Given the description of an element on the screen output the (x, y) to click on. 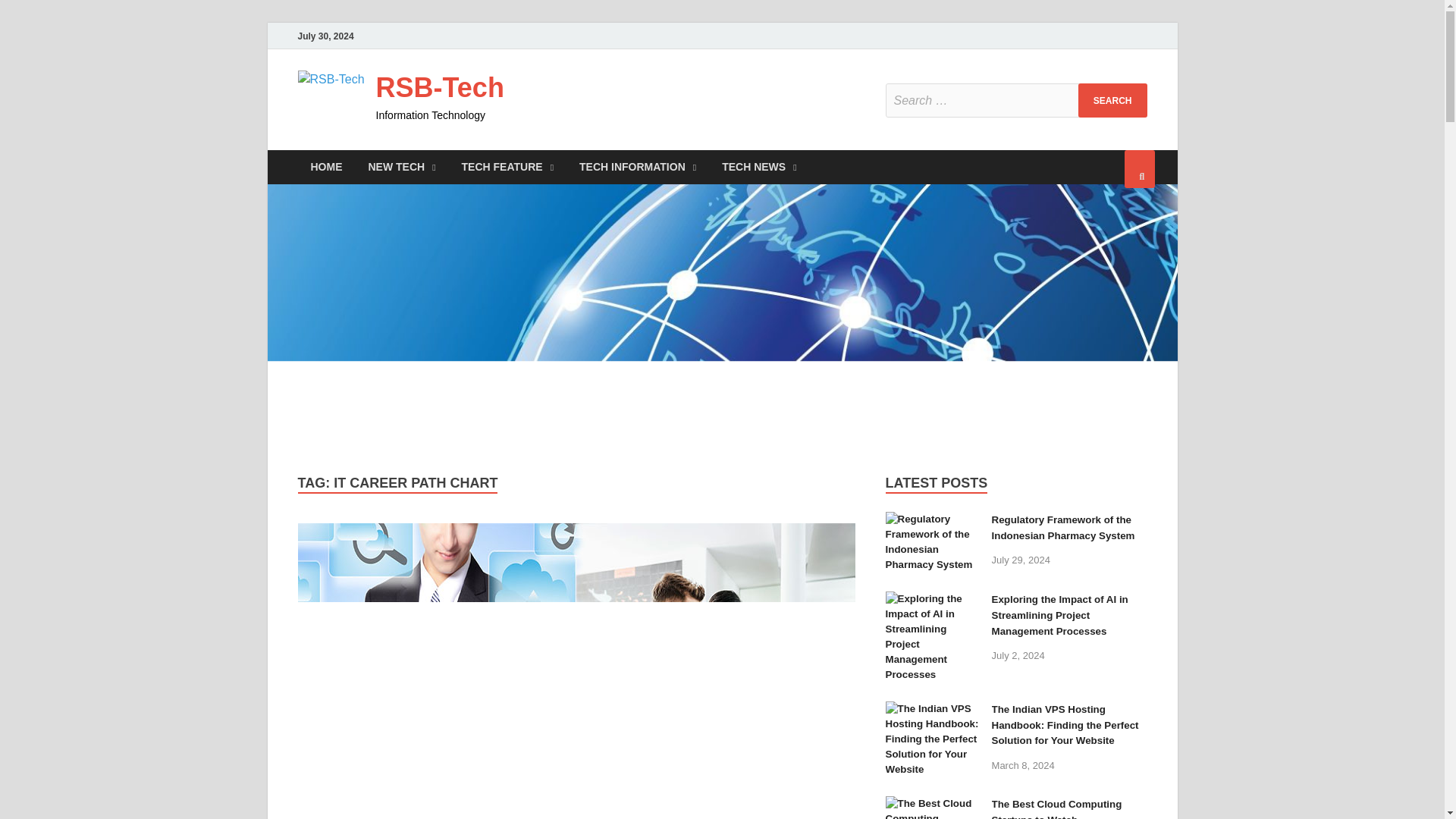
HOME (326, 166)
Search (1112, 100)
NEW TECH (401, 166)
TECH FEATURE (507, 166)
RSB-Tech (439, 87)
TECH NEWS (759, 166)
TECH INFORMATION (637, 166)
Search (1112, 100)
Regulatory Framework of the Indonesian Pharmacy System (932, 521)
The Best Cloud Computing Startups to Watch (932, 805)
Search (1112, 100)
Regulatory Framework of the Indonesian Pharmacy System (1063, 527)
